Given the description of an element on the screen output the (x, y) to click on. 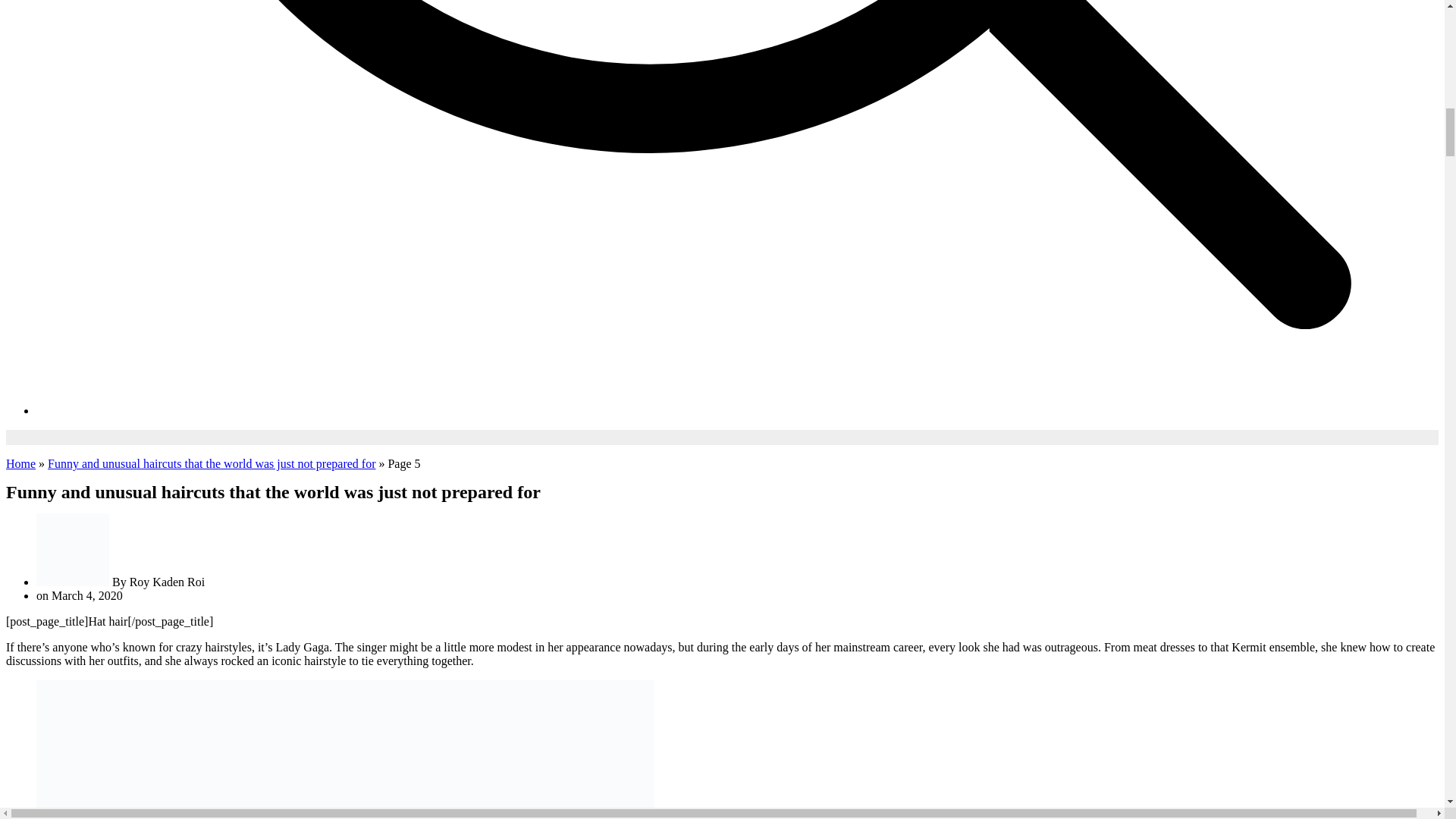
Home (19, 463)
